Given the description of an element on the screen output the (x, y) to click on. 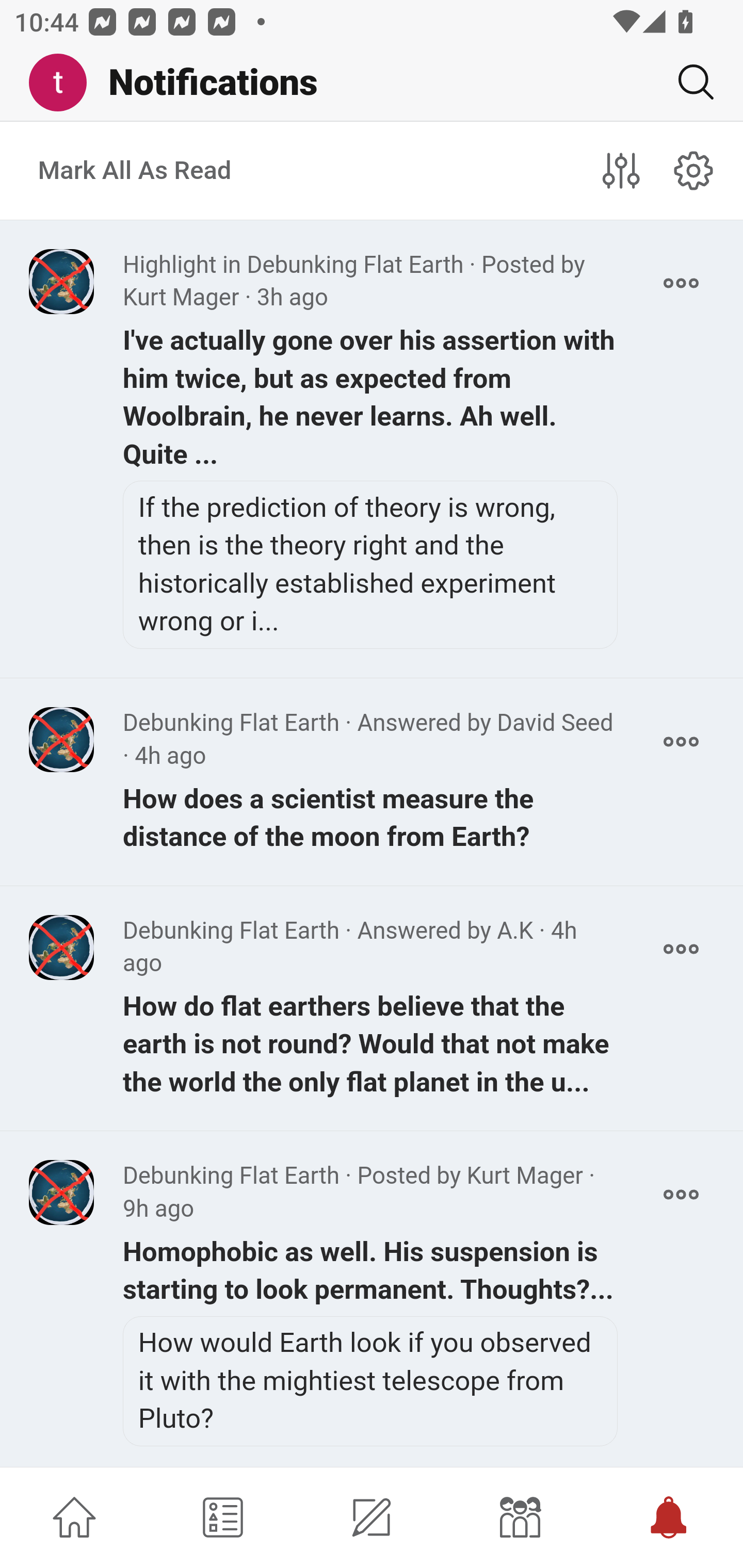
Me Notifications Search (371, 82)
Me (64, 83)
Search (688, 82)
Mark All As Read (135, 171)
notifications# (693, 170)
More (681, 282)
More (681, 741)
More (681, 949)
More (681, 1194)
